Given the description of an element on the screen output the (x, y) to click on. 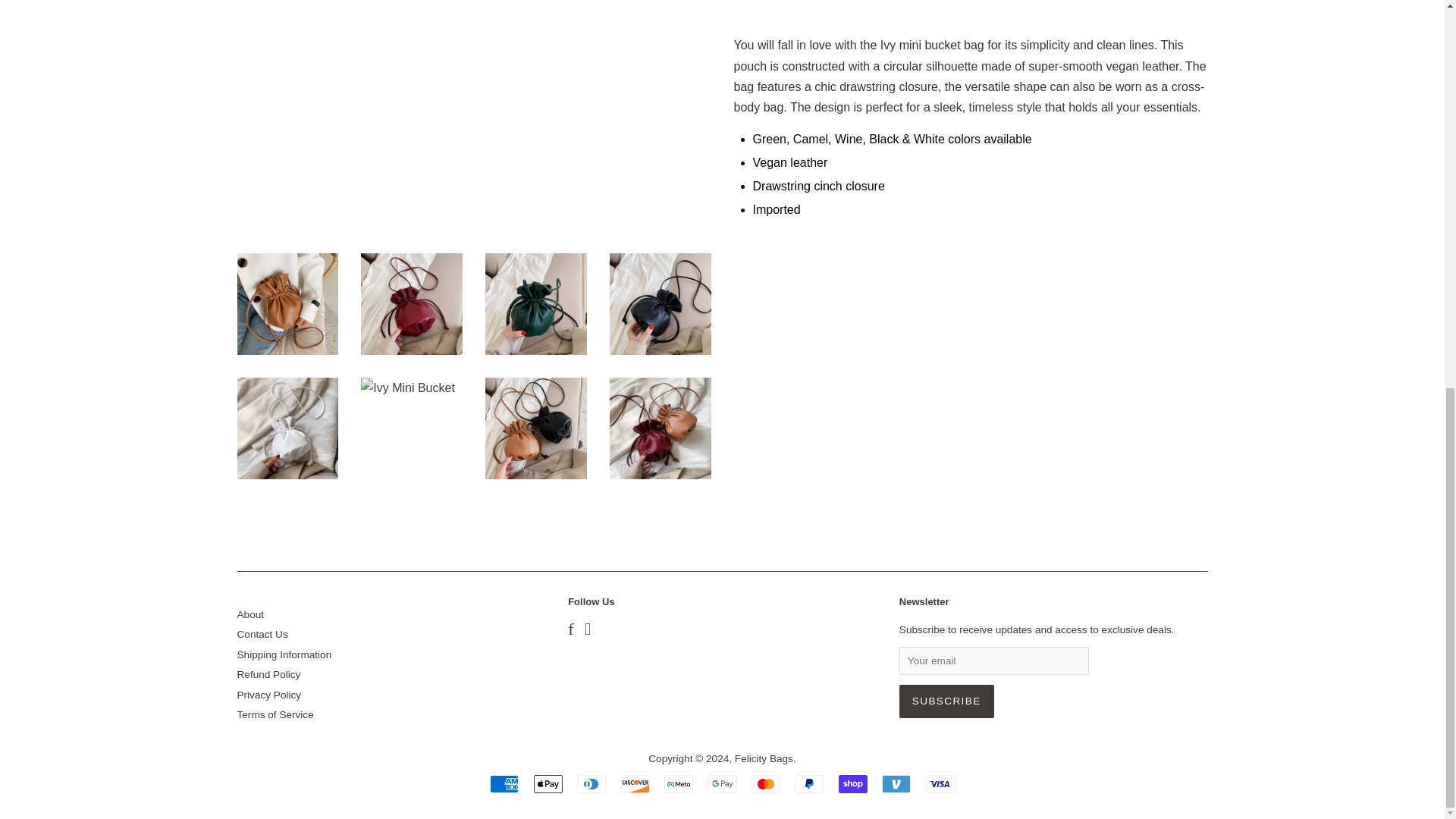
Venmo (896, 783)
Google Pay (721, 783)
Visa (940, 783)
Discover (635, 783)
Subscribe (946, 701)
Mastercard (765, 783)
Meta Pay (678, 783)
Apple Pay (548, 783)
American Express (503, 783)
PayPal (809, 783)
Diners Club (590, 783)
Shop Pay (852, 783)
